Given the description of an element on the screen output the (x, y) to click on. 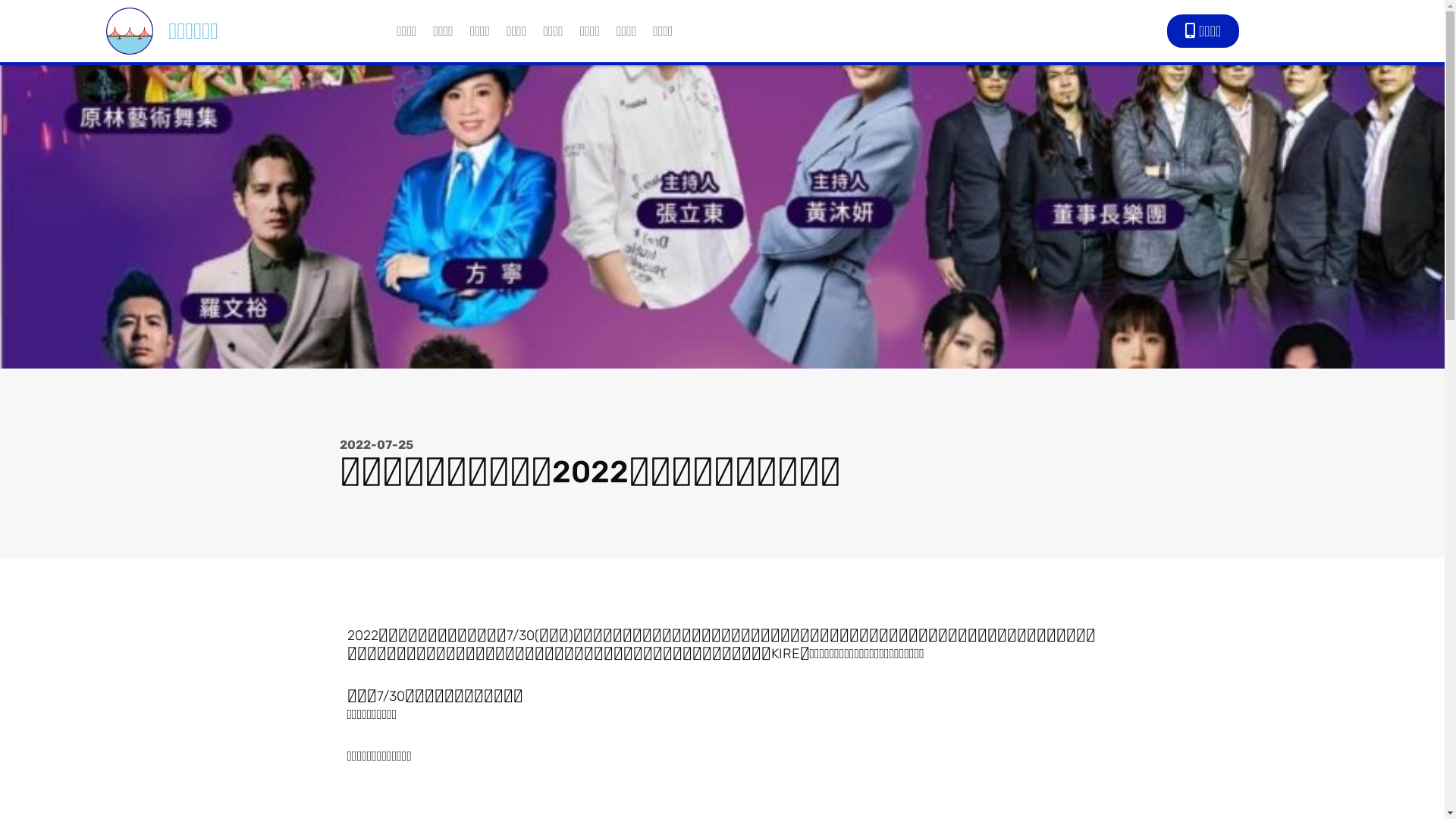
2022-07-25 Element type: text (376, 445)
